Given the description of an element on the screen output the (x, y) to click on. 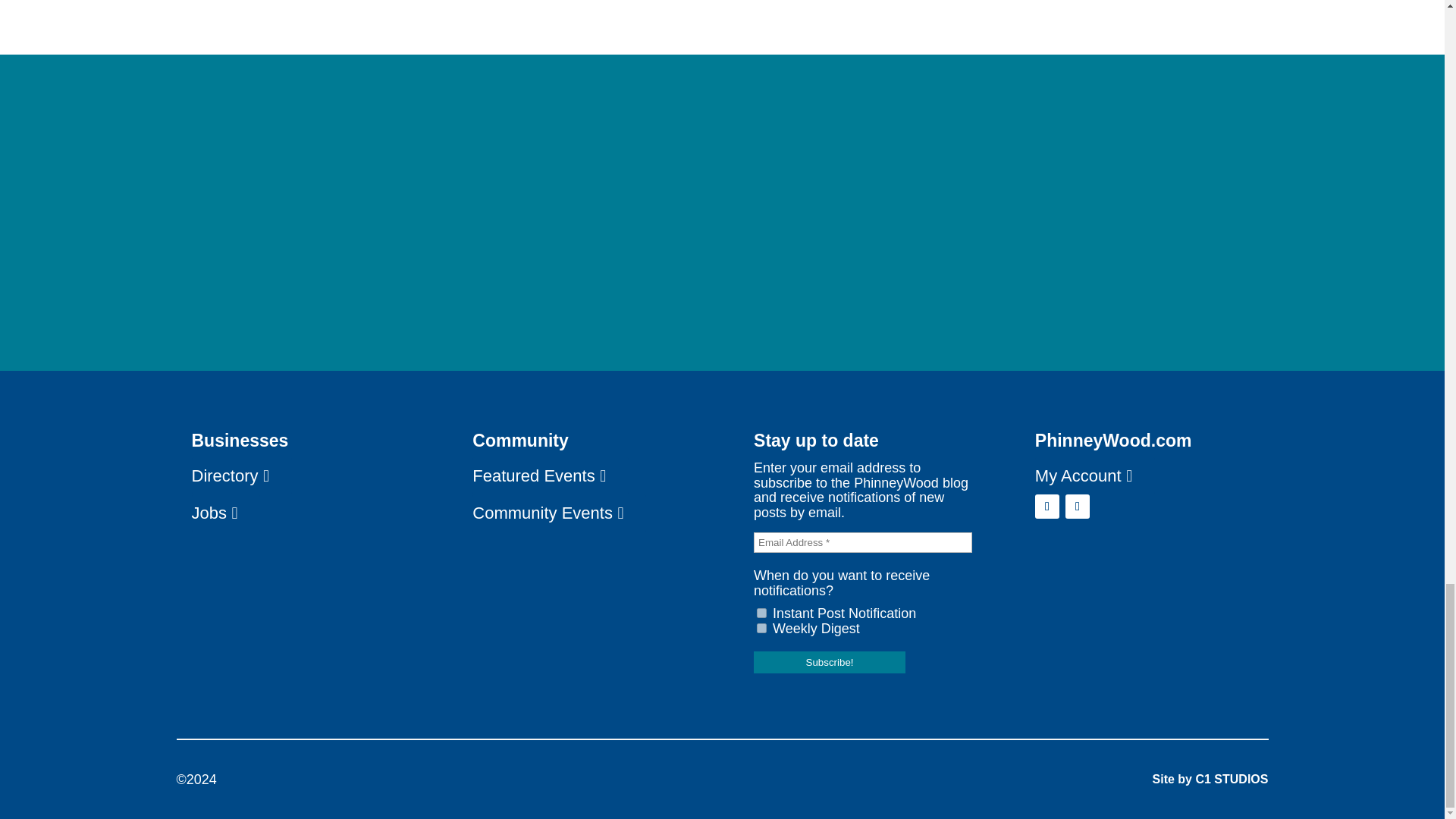
3 (762, 628)
4 (762, 613)
Email Address (863, 542)
Follow on X (1077, 506)
Follow on Facebook (1047, 506)
Subscribe! (829, 662)
